Given the description of an element on the screen output the (x, y) to click on. 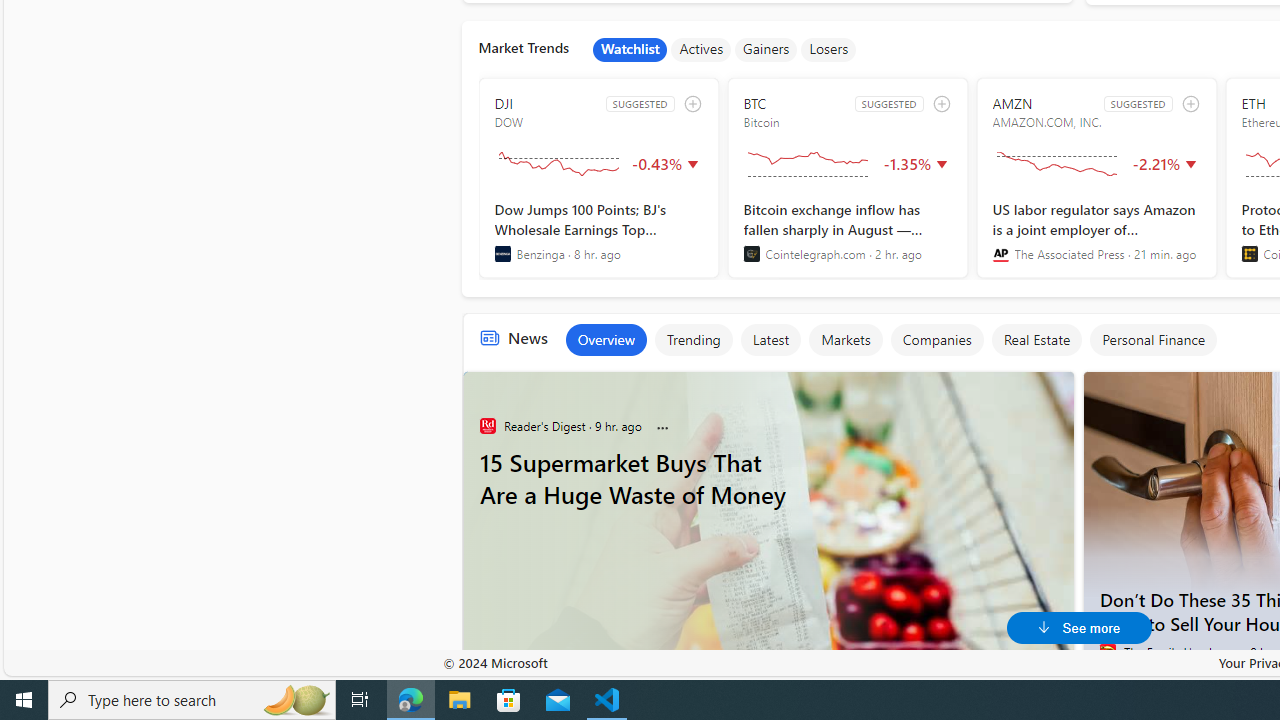
Overview (605, 339)
Watchlist (630, 49)
Personal Finance (1153, 339)
The Family Handyman (1107, 651)
Companies (936, 339)
Cointelegraph.com (751, 254)
AdChoices (1056, 382)
Ad (491, 646)
The Associated Press (1000, 254)
Gainers (765, 49)
Real Estate (1035, 339)
add to watchlist (1189, 103)
